Given the description of an element on the screen output the (x, y) to click on. 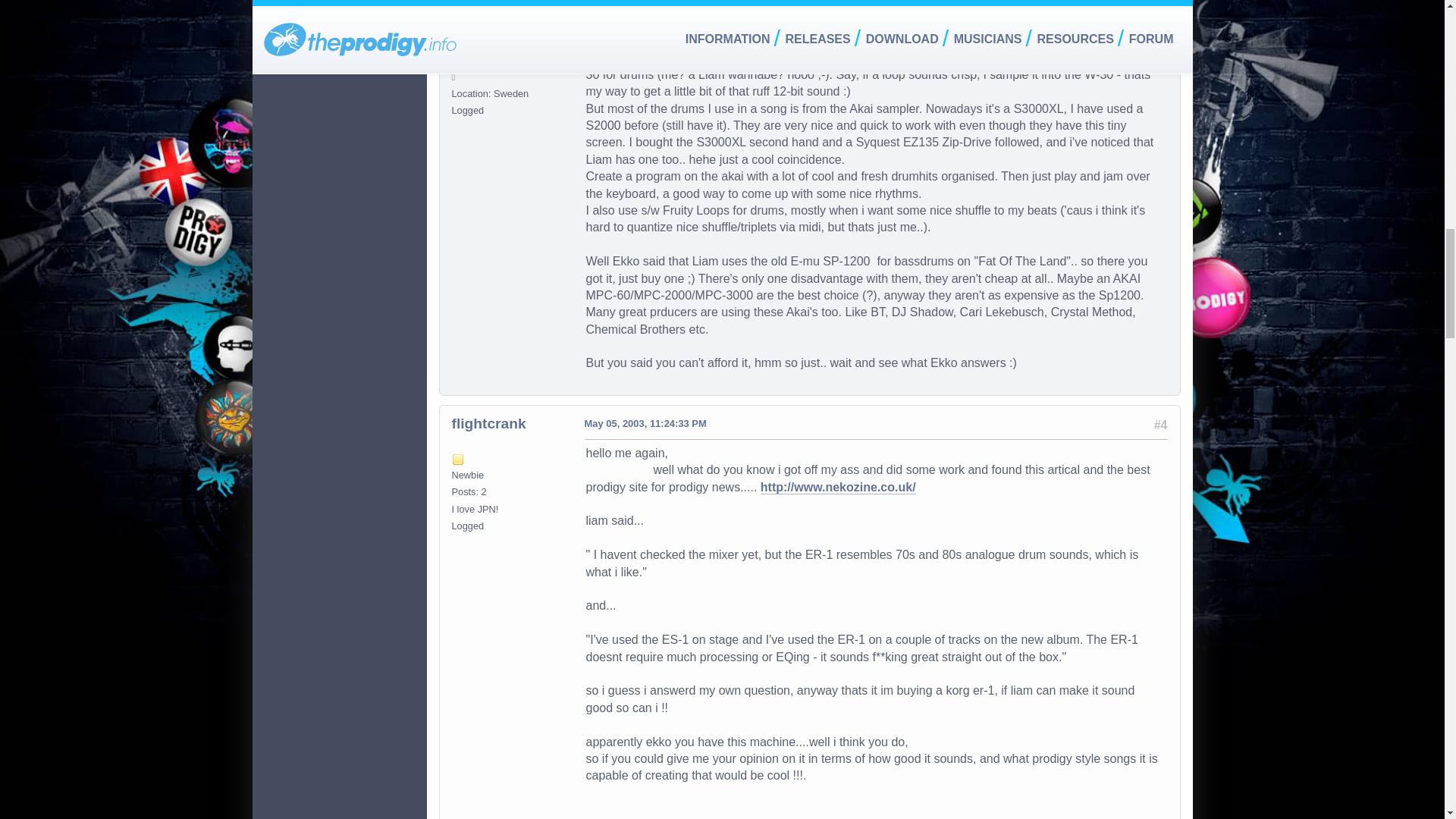
View the profile of flightcrank (488, 423)
ICQ - 172778069 (457, 60)
